Given the description of an element on the screen output the (x, y) to click on. 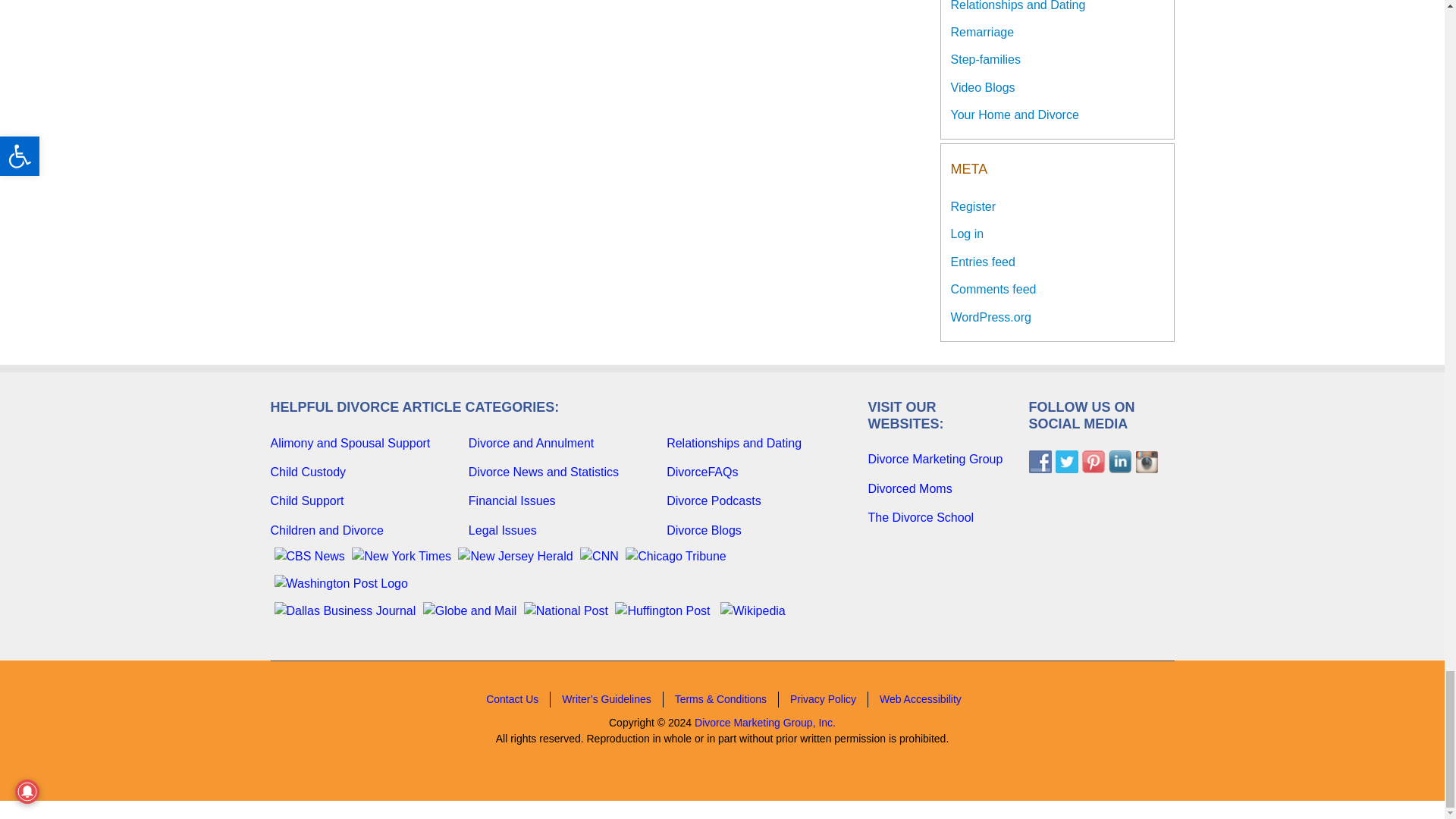
Instagram (1145, 461)
Twitter (1066, 461)
LinkedIn (1119, 461)
Facebook (1039, 461)
Pinterest (1092, 461)
